Given the description of an element on the screen output the (x, y) to click on. 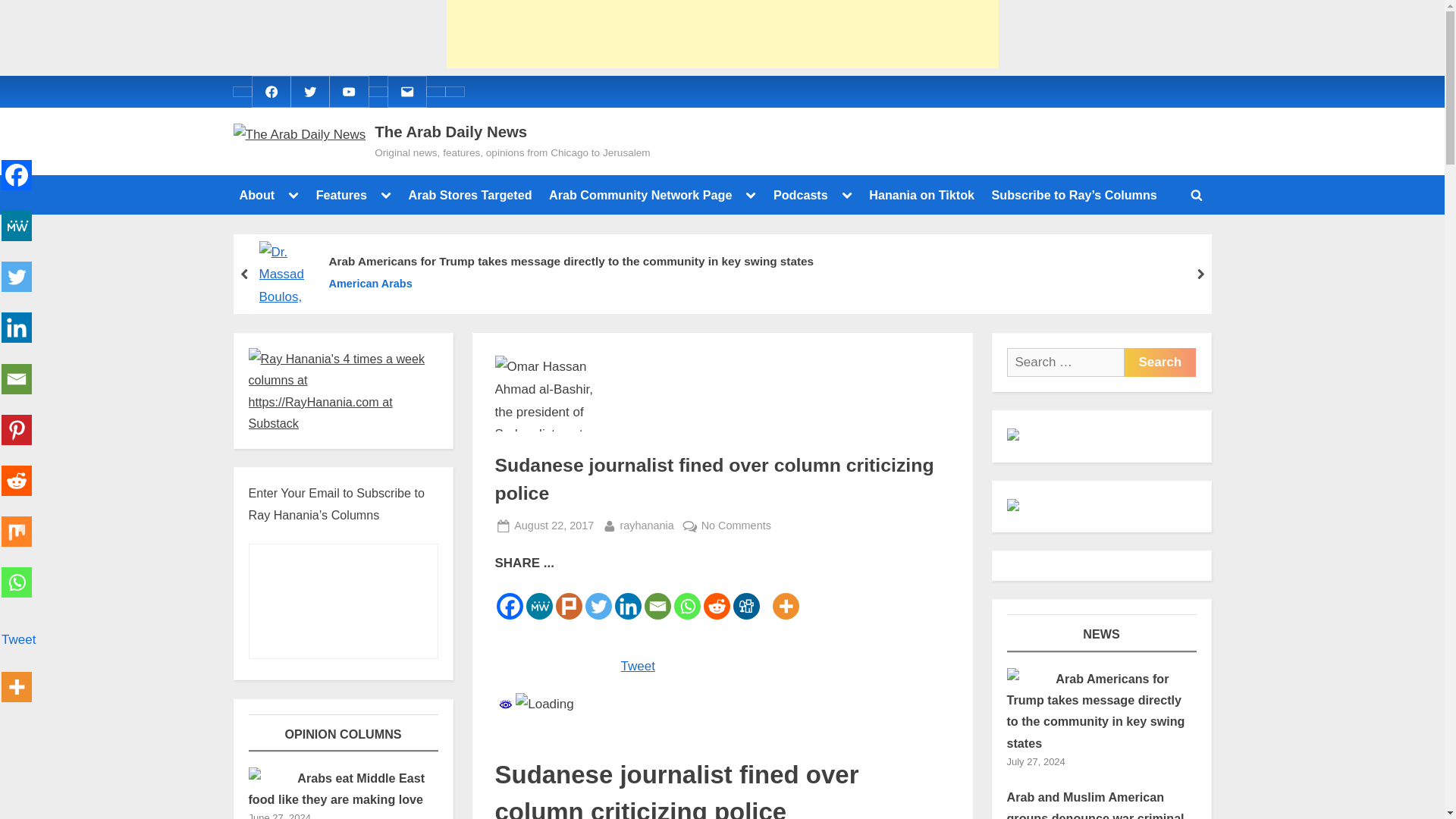
Toggle sub-menu (293, 194)
Search (1159, 362)
Features (341, 194)
Toggle sub-menu (750, 194)
Toggle sub-menu (385, 194)
Search (1159, 362)
Email (406, 91)
Arab Community Network Page (640, 194)
The Arab Daily News (450, 131)
Email (406, 91)
Facebook (270, 91)
Twitter (309, 91)
Arab Stores Targeted (470, 194)
Youtube (348, 91)
About (256, 194)
